Given the description of an element on the screen output the (x, y) to click on. 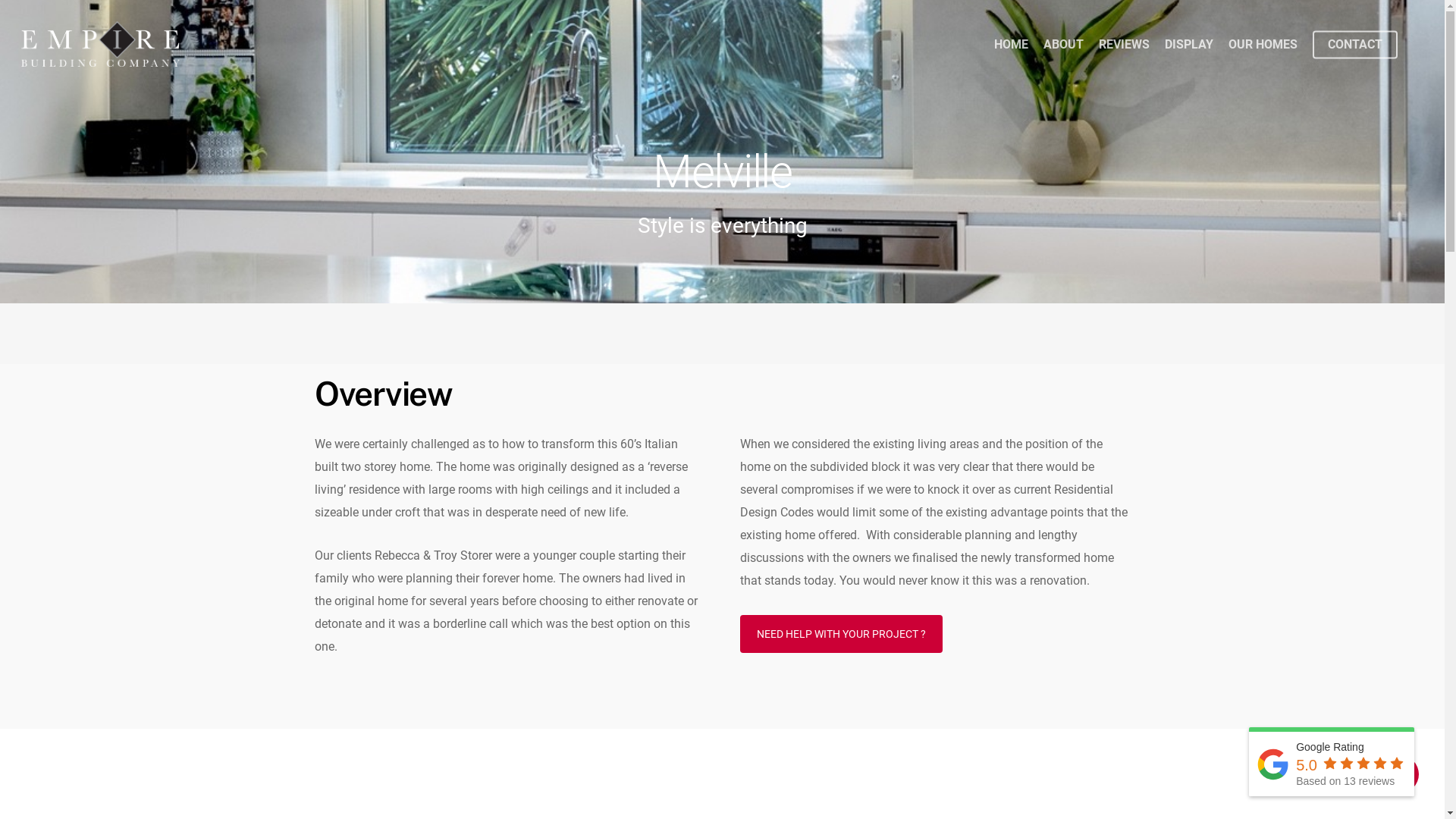
DISPLAY Element type: text (1188, 44)
CONTACT Element type: text (1354, 44)
OUR HOMES Element type: text (1262, 44)
ABOUT Element type: text (1063, 44)
HOME Element type: text (1010, 44)
REVIEWS Element type: text (1124, 44)
NEED HELP WITH YOUR PROJECT ? Element type: text (841, 633)
